Given the description of an element on the screen output the (x, y) to click on. 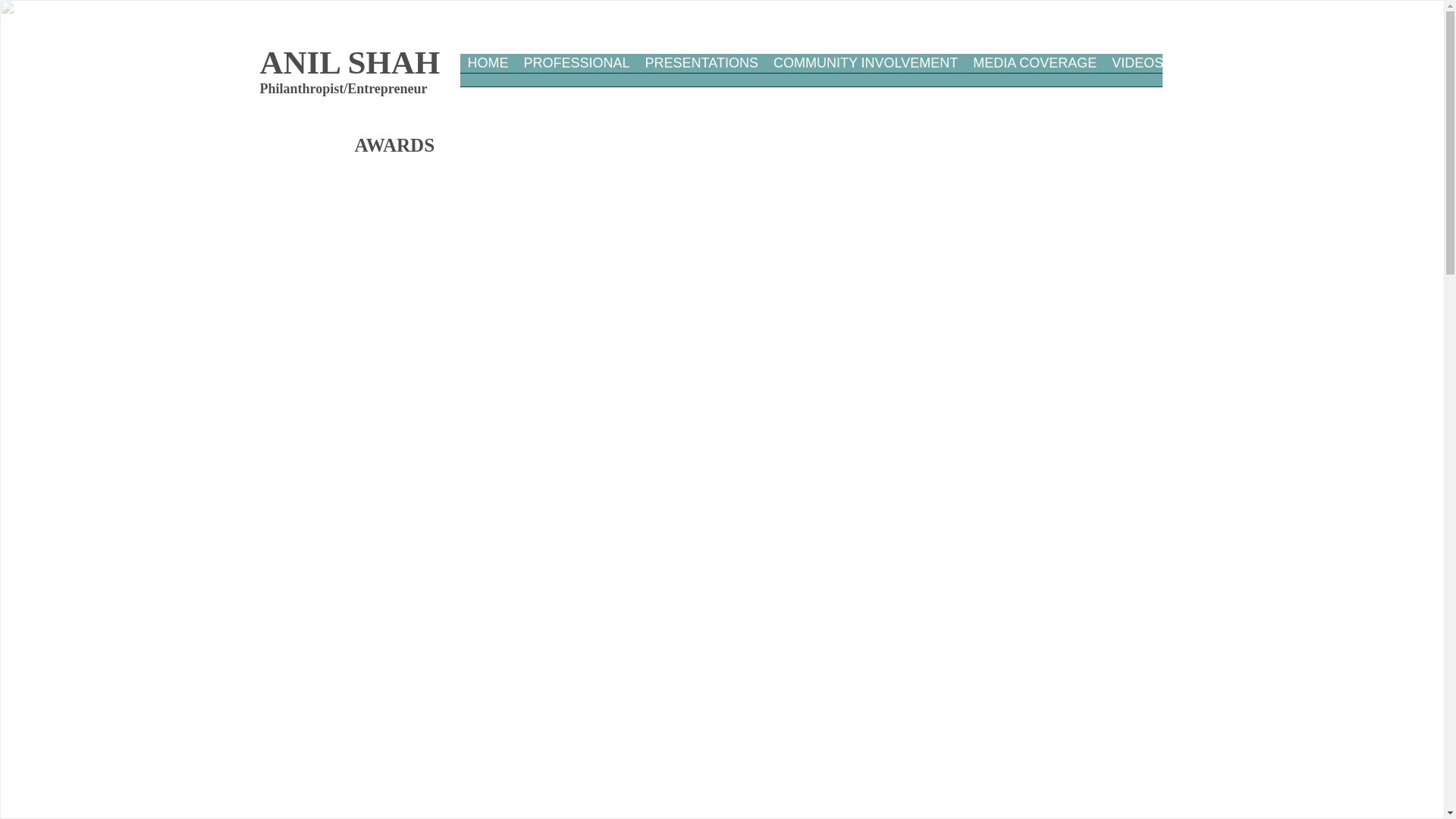
HOME Element type: text (487, 74)
PROFESSIONAL Element type: text (576, 74)
MEDIA COVERAGE Element type: text (1034, 74)
VIDEOS Element type: text (1137, 74)
PRESENTATIONS Element type: text (701, 74)
COMMUNITY INVOLVEMENT Element type: text (865, 74)
